Given the description of an element on the screen output the (x, y) to click on. 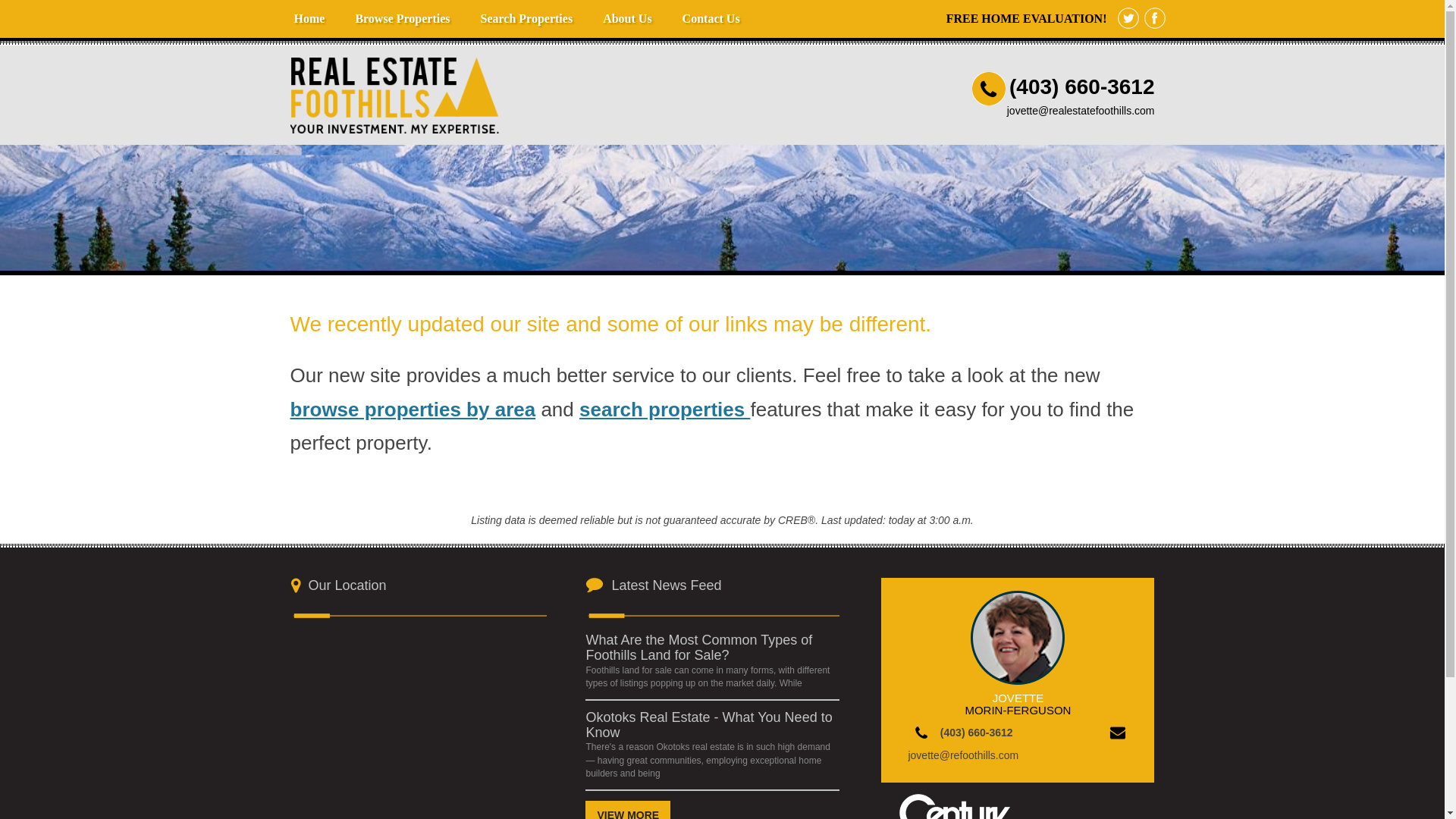
browse properties by area (412, 409)
Search Properties (526, 18)
Contact Us (710, 18)
search properties (664, 409)
Browse Properties (401, 18)
VIEW MORE (627, 809)
Skip to content (314, 7)
Skip to content (314, 7)
Home (309, 18)
About Us (627, 18)
